Given the description of an element on the screen output the (x, y) to click on. 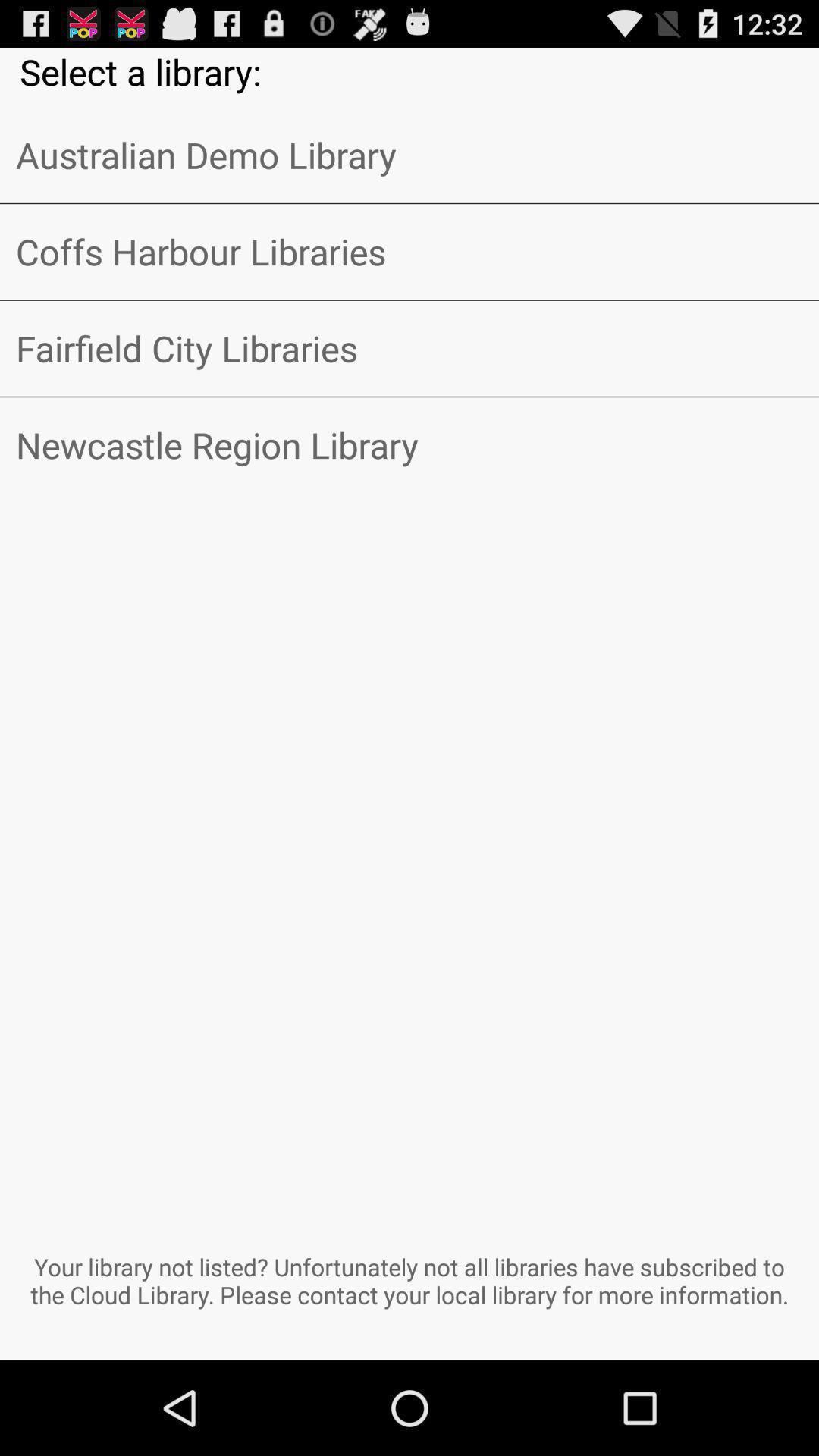
turn on icon below select a library: app (409, 155)
